Given the description of an element on the screen output the (x, y) to click on. 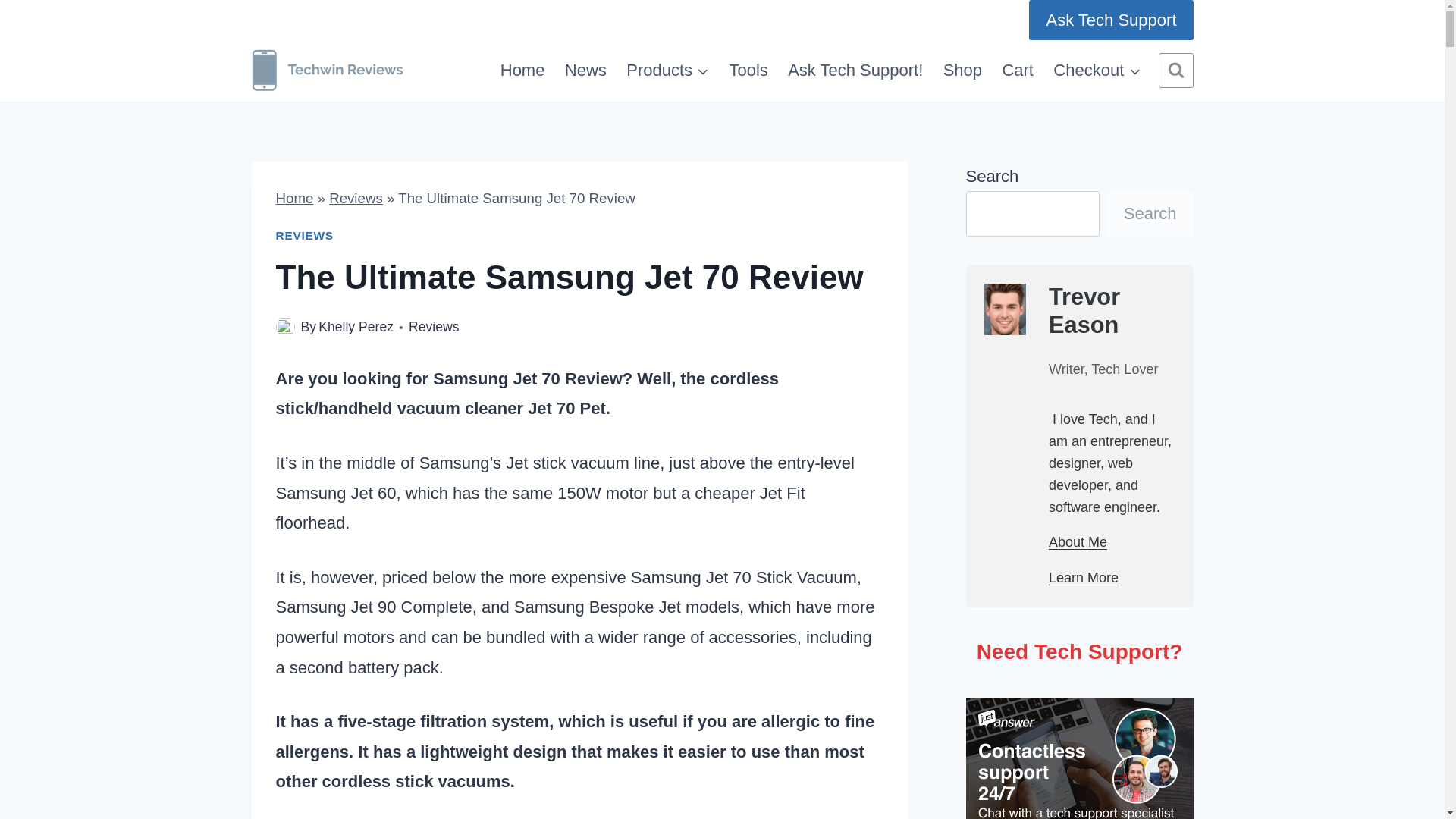
Cart (1017, 70)
News (584, 70)
Reviews (433, 326)
Home (295, 198)
Tools (748, 70)
Shop (962, 70)
Home (522, 70)
Ask Tech Support (1110, 20)
Products (667, 70)
Reviews (355, 198)
Khelly Perez (355, 326)
Ask Tech Support! (855, 70)
REVIEWS (304, 235)
Checkout (1096, 70)
